Given the description of an element on the screen output the (x, y) to click on. 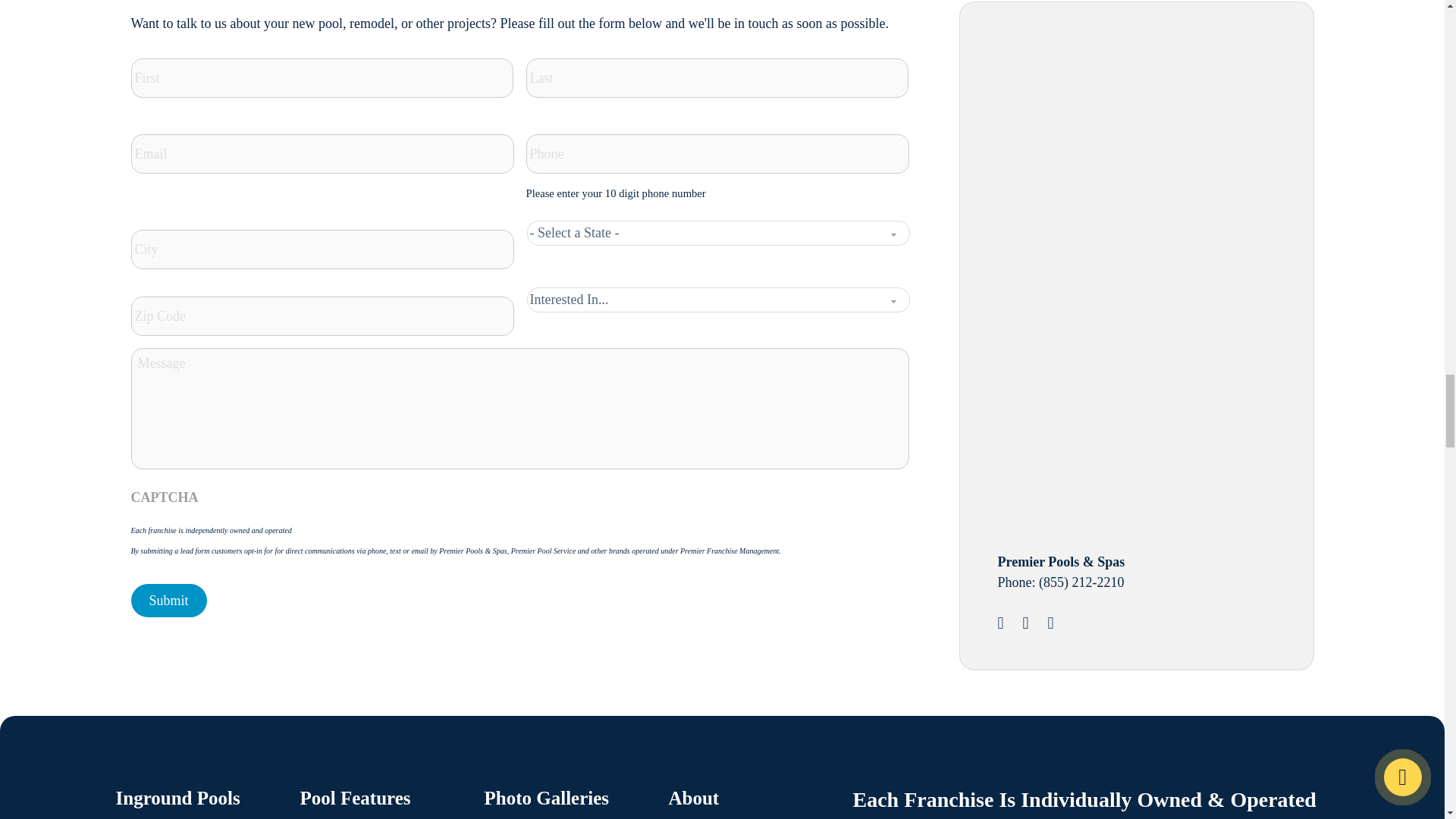
Submit (168, 600)
Design Your Pool (1111, 141)
Pool Financing (1111, 395)
